Given the description of an element on the screen output the (x, y) to click on. 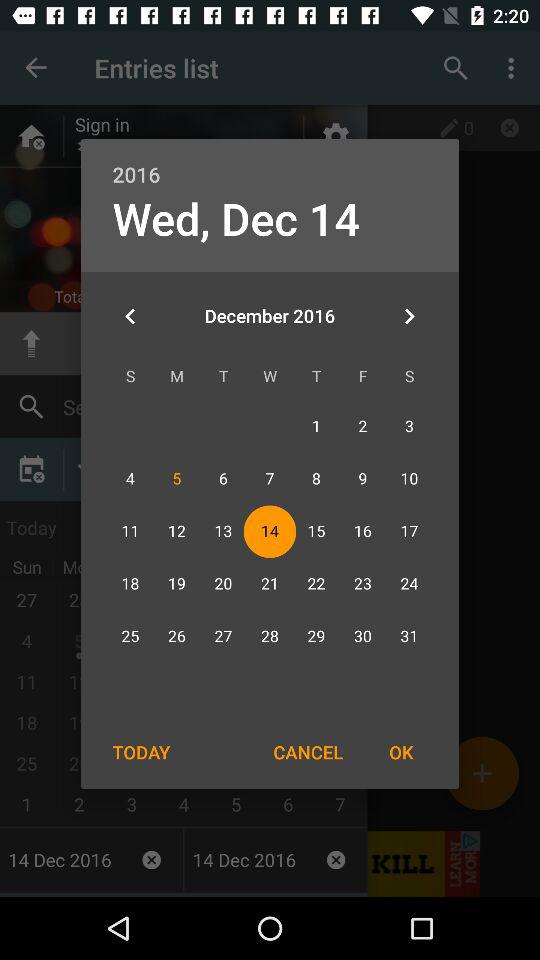
press item below the wed, dec 14 (130, 316)
